Given the description of an element on the screen output the (x, y) to click on. 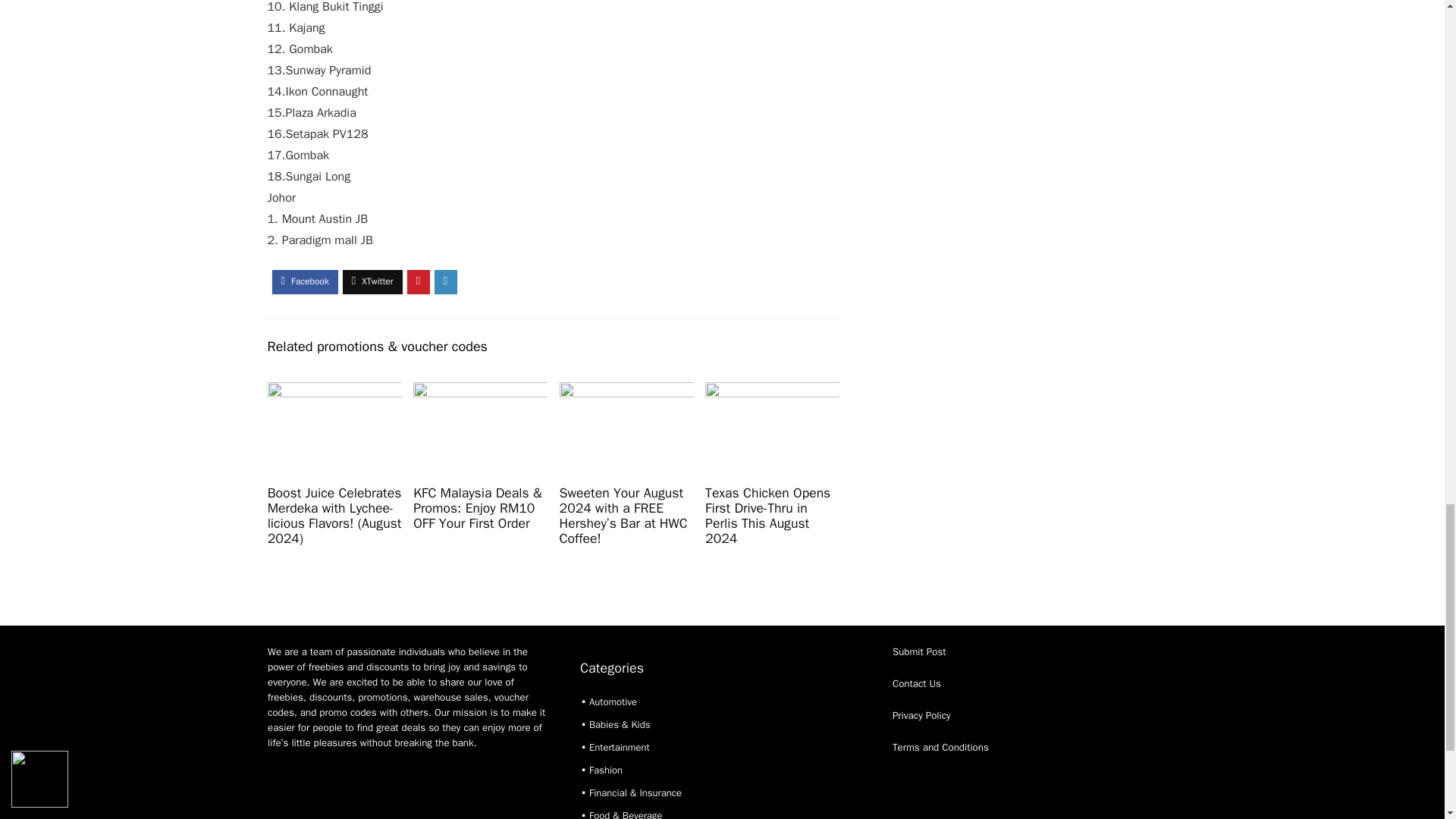
Automotive (613, 701)
